Given the description of an element on the screen output the (x, y) to click on. 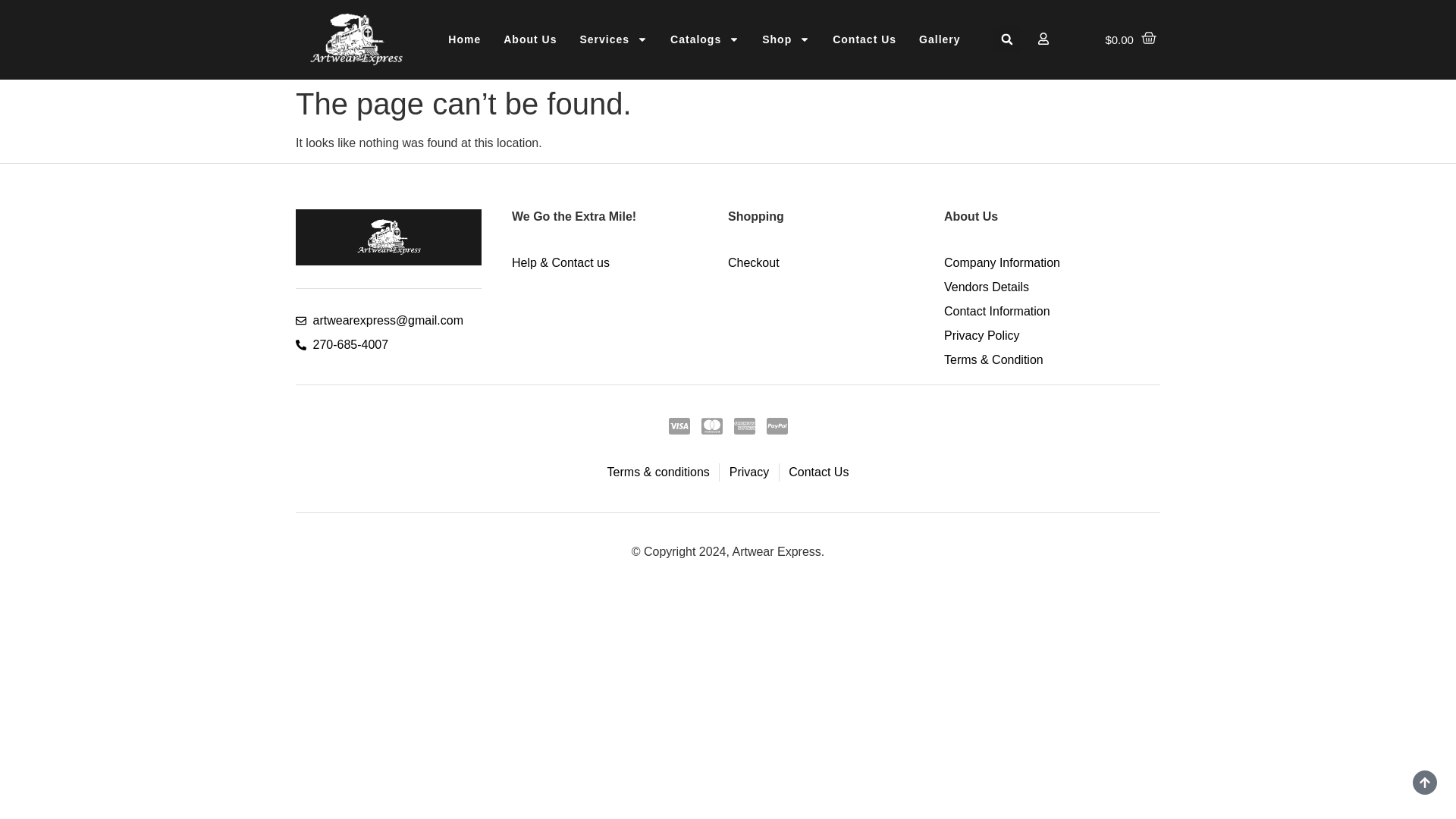
Contact Us (864, 39)
Services (613, 39)
Home (464, 39)
Catalogs (705, 39)
About Us (529, 39)
Shop (786, 39)
Gallery (939, 39)
